Given the description of an element on the screen output the (x, y) to click on. 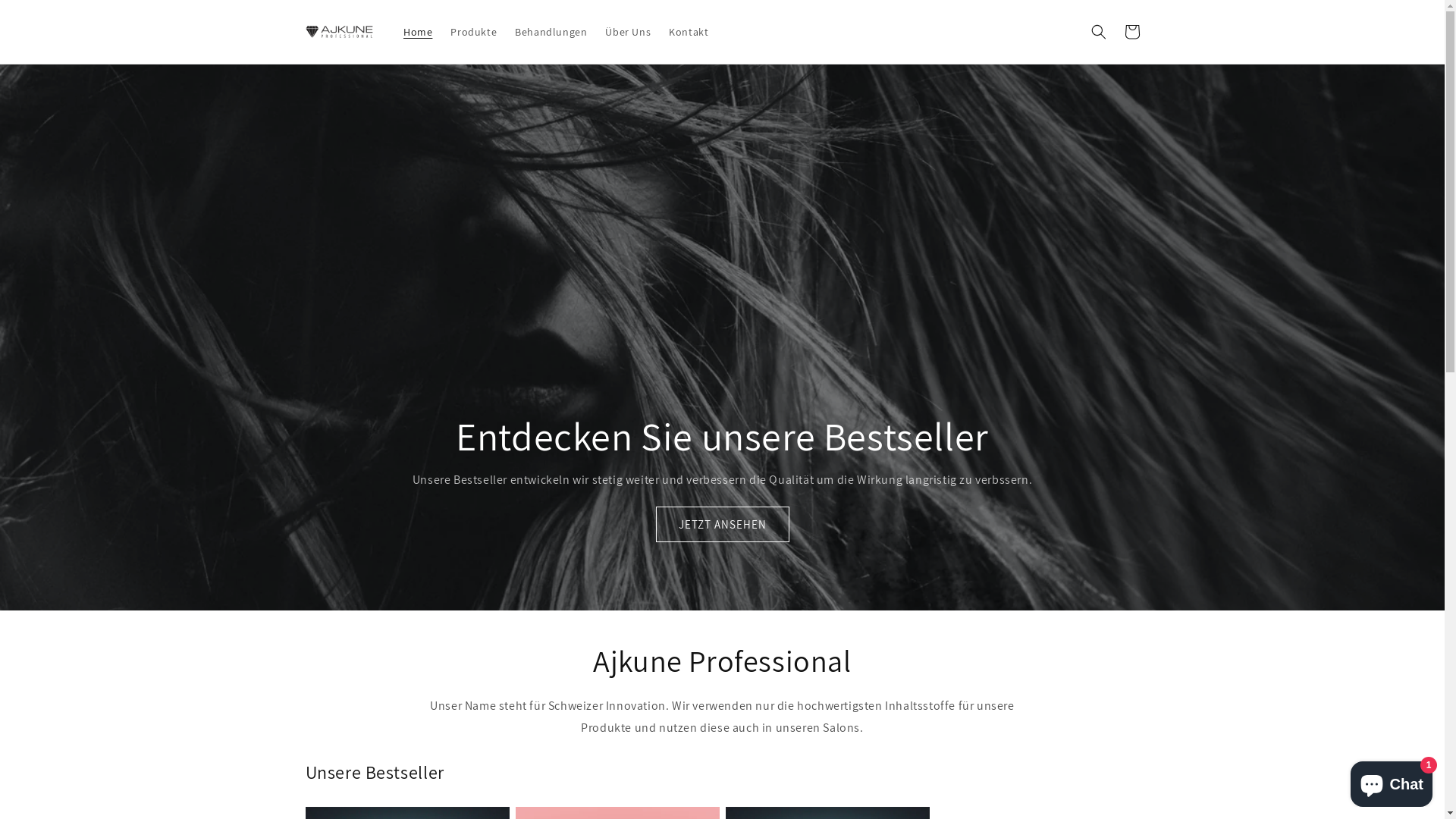
Produkte Element type: text (473, 31)
Onlineshop-Chat von Shopify Element type: hover (1391, 780)
Kontakt Element type: text (688, 31)
JETZT ANSEHEN Element type: text (721, 524)
Behandlungen Element type: text (550, 31)
Warenkorb Element type: text (1131, 31)
Home Element type: text (417, 31)
